Given the description of an element on the screen output the (x, y) to click on. 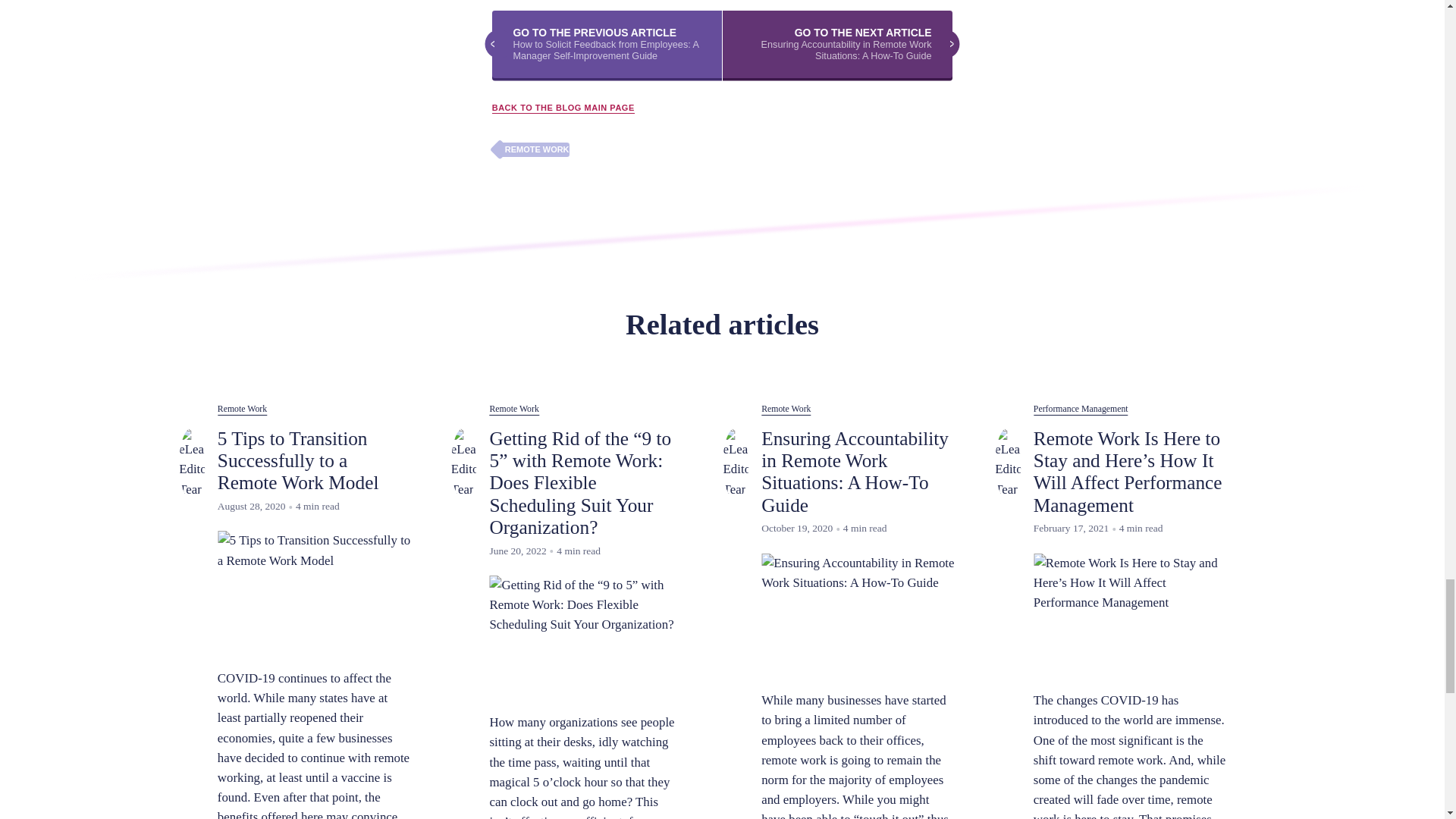
REMOTE WORK (530, 149)
BACK TO THE BLOG MAIN PAGE (563, 108)
Remote Work (241, 409)
Remote Work (513, 409)
Remote Work (785, 409)
